Given the description of an element on the screen output the (x, y) to click on. 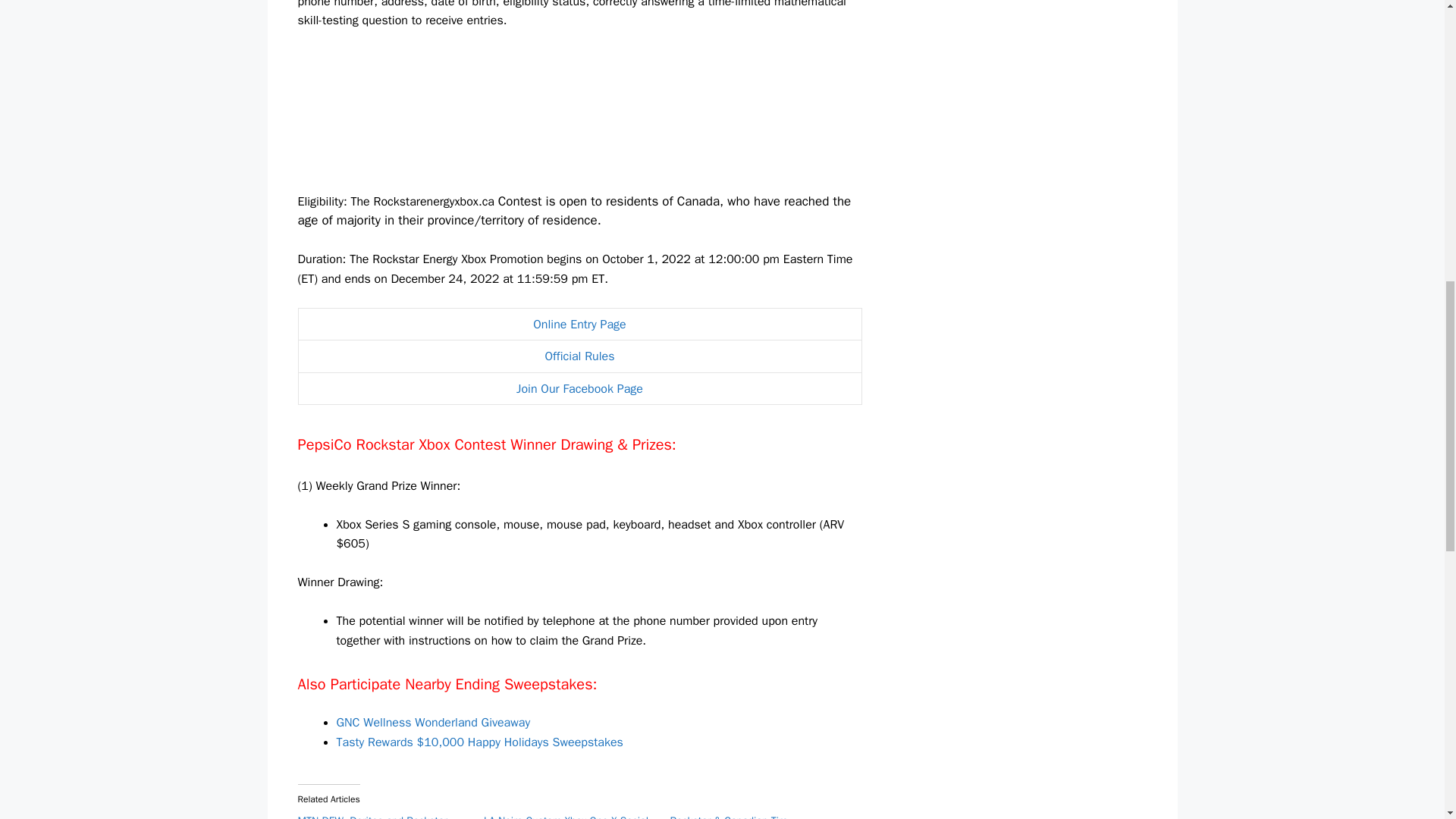
Online Entry Page (579, 324)
Official Rules (579, 355)
Advertisement (1054, 65)
LA Noire Custom Xbox One X Social Club Giveaway 2017 (565, 816)
Join Our Facebook Page (579, 388)
LA Noire Custom Xbox One X Social Club Giveaway 2017 (565, 816)
MTN DEW, Doritos and Rockstar Contest (371, 816)
GNC Wellness Wonderland Giveaway (433, 722)
Scroll back to top (1406, 720)
MTN DEW, Doritos and Rockstar Contest (371, 816)
Advertisement (579, 117)
